Given the description of an element on the screen output the (x, y) to click on. 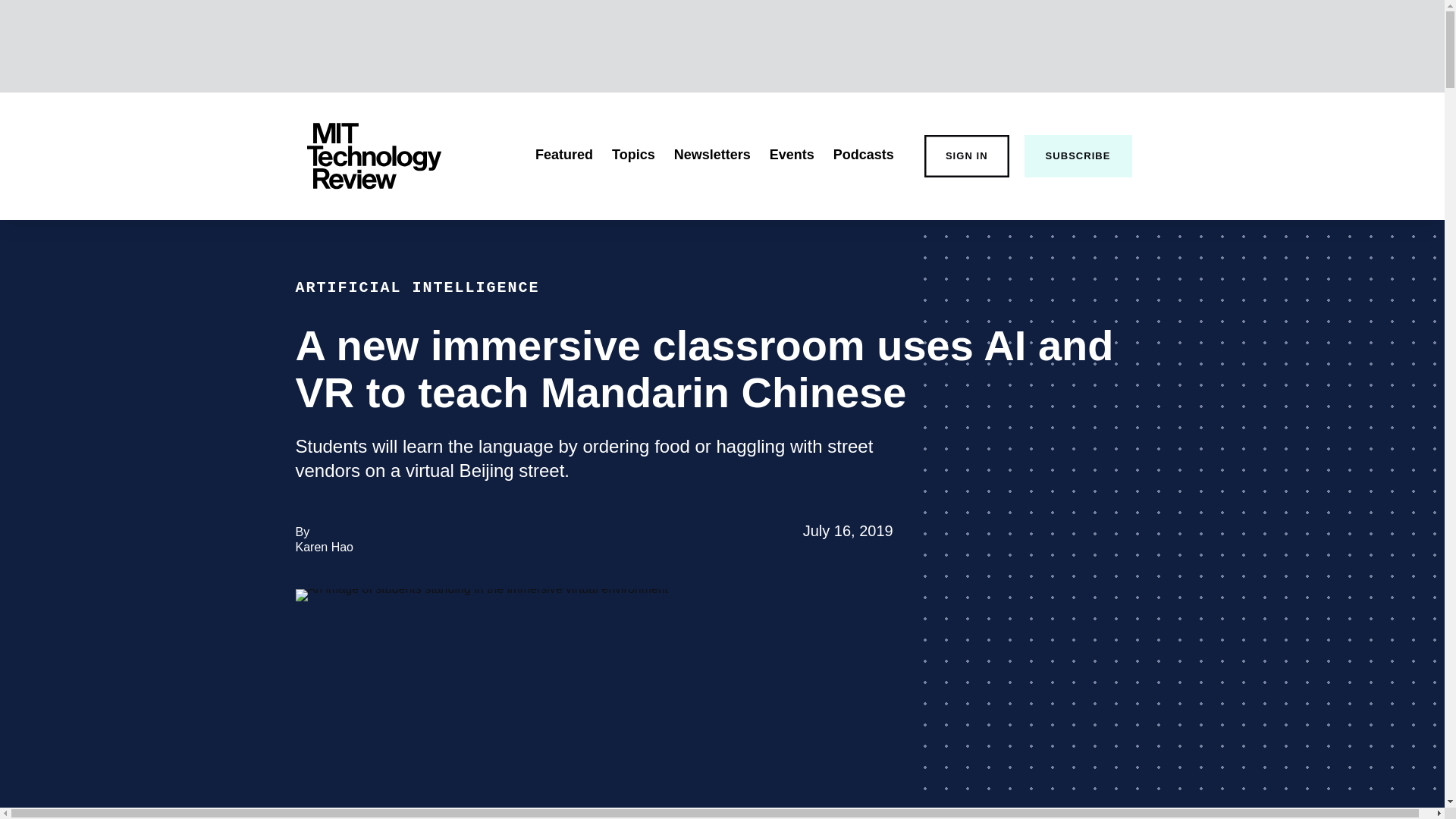
Topics (633, 154)
MIT Technology Review (373, 155)
Newsletters (712, 154)
Podcasts (862, 154)
Events (324, 546)
ARTIFICIAL INTELLIGENCE (791, 154)
Featured (417, 287)
SIGN IN (563, 154)
SUBSCRIBE (966, 156)
